Given the description of an element on the screen output the (x, y) to click on. 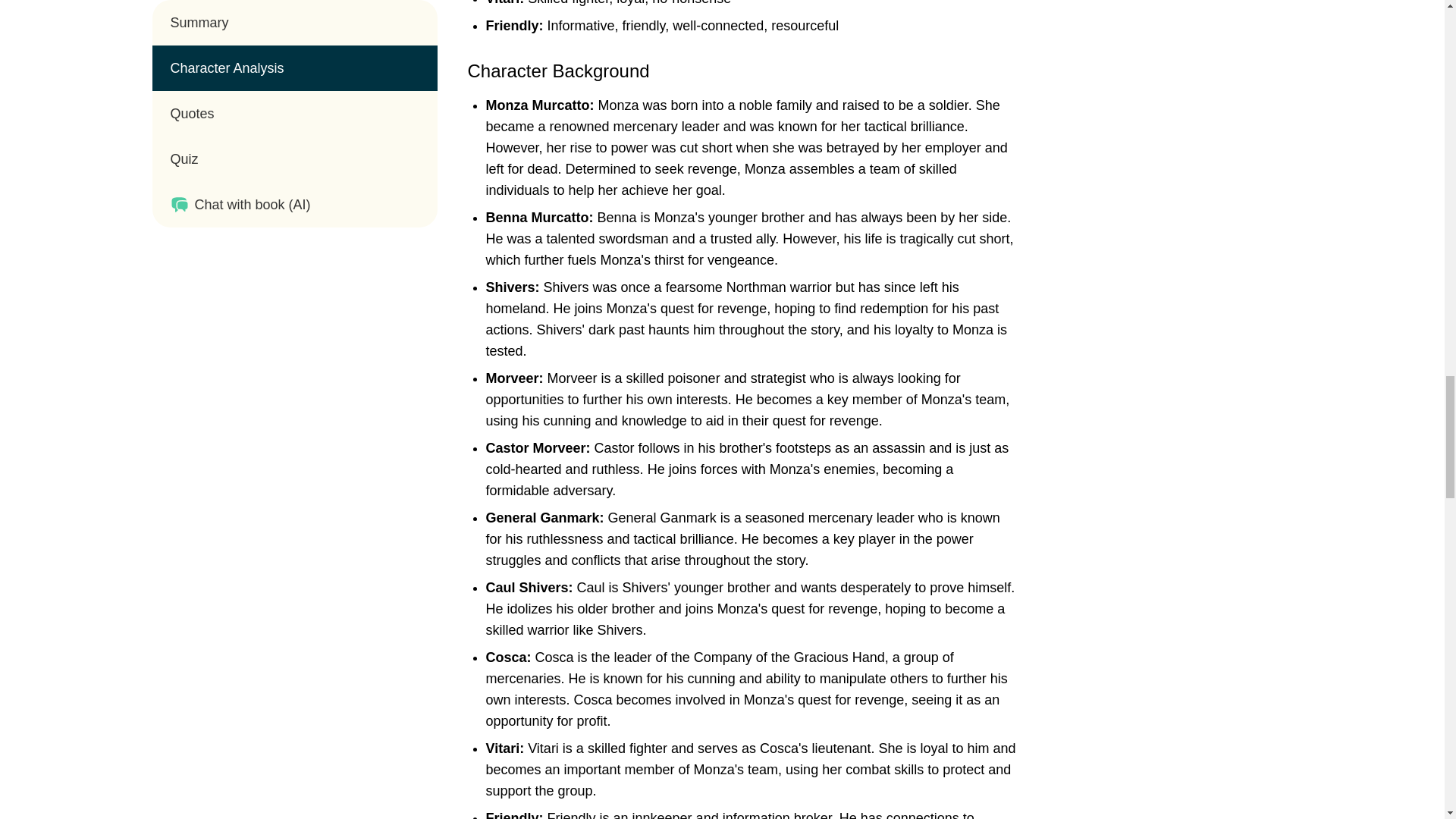
Character Background (558, 70)
